Given the description of an element on the screen output the (x, y) to click on. 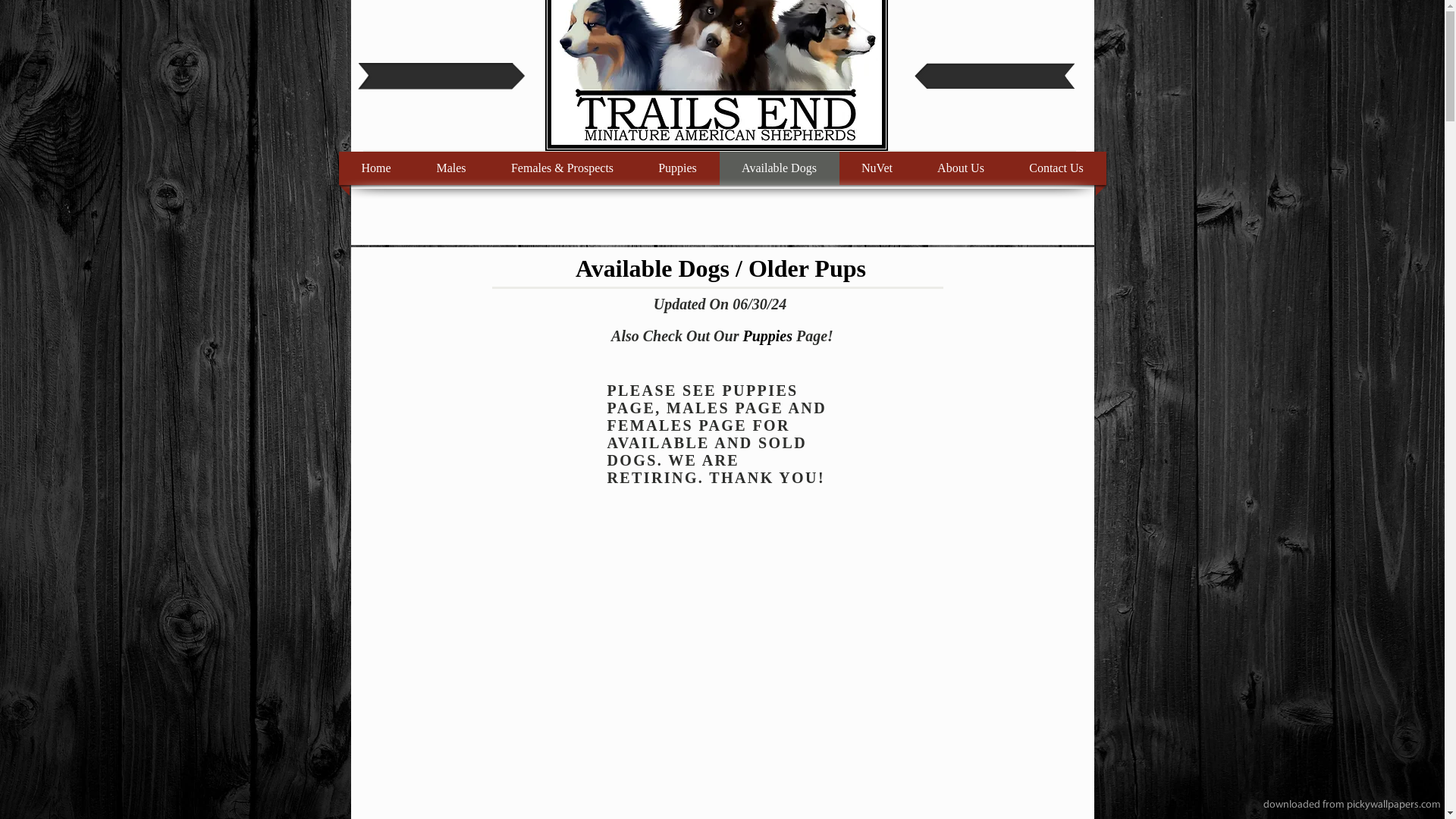
Males (450, 168)
Puppies (678, 168)
Home (376, 168)
Available Dogs (779, 168)
About Us (960, 168)
NuVet (877, 168)
Contact Us (1056, 168)
